Given the description of an element on the screen output the (x, y) to click on. 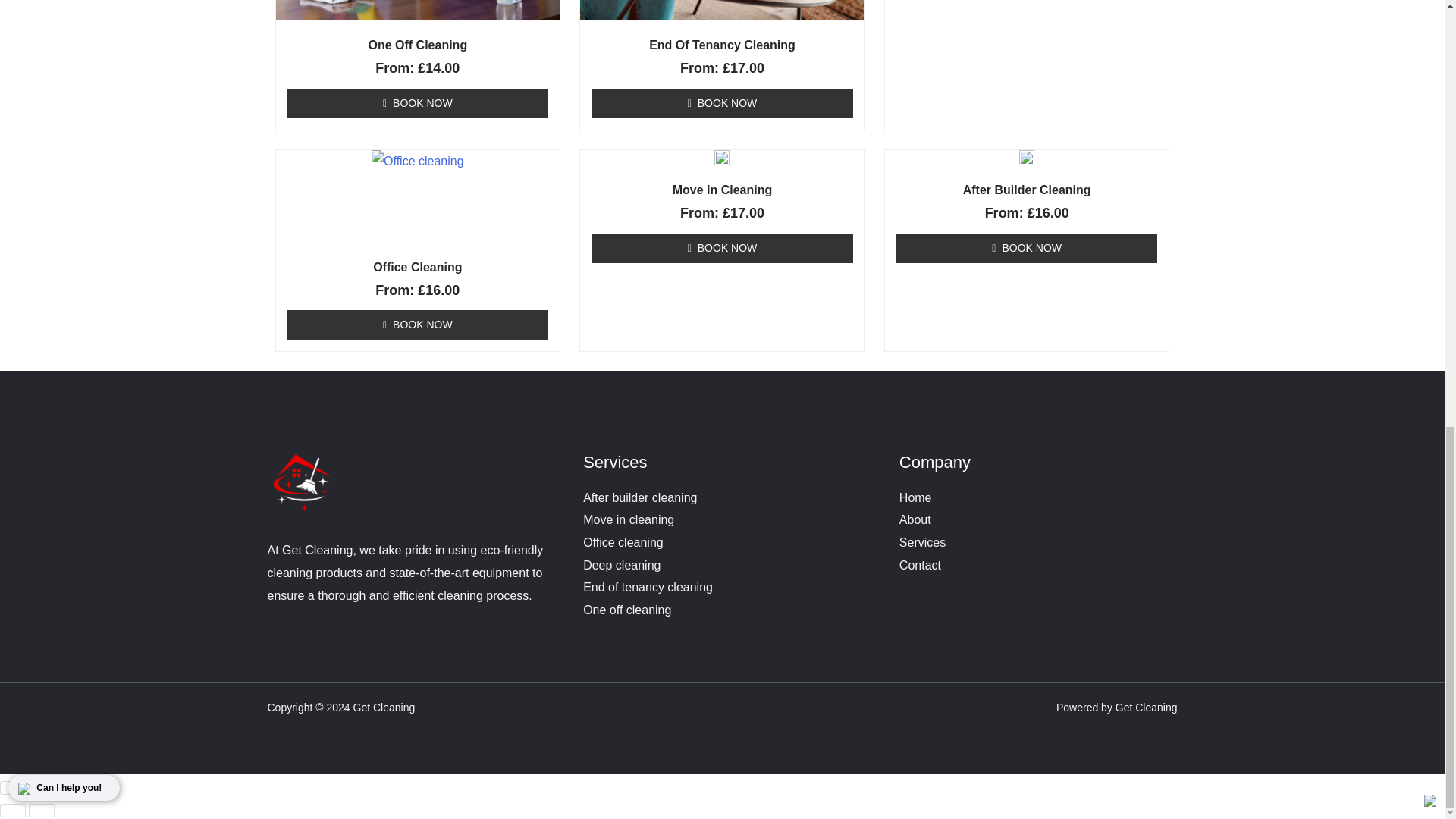
BOOK NOW (722, 102)
End Of Tenancy Cleaning (721, 45)
BOOK NOW (417, 102)
One off cleaning (627, 609)
After builder cleaning (640, 497)
BOOK NOW (722, 247)
About (915, 519)
BOOK NOW (417, 324)
Move in cleaning (628, 519)
Home (915, 497)
Deep cleaning (622, 564)
Office Cleaning (418, 267)
Office cleaning (623, 542)
End of tenancy cleaning (648, 586)
One Off Cleaning (418, 45)
